Given the description of an element on the screen output the (x, y) to click on. 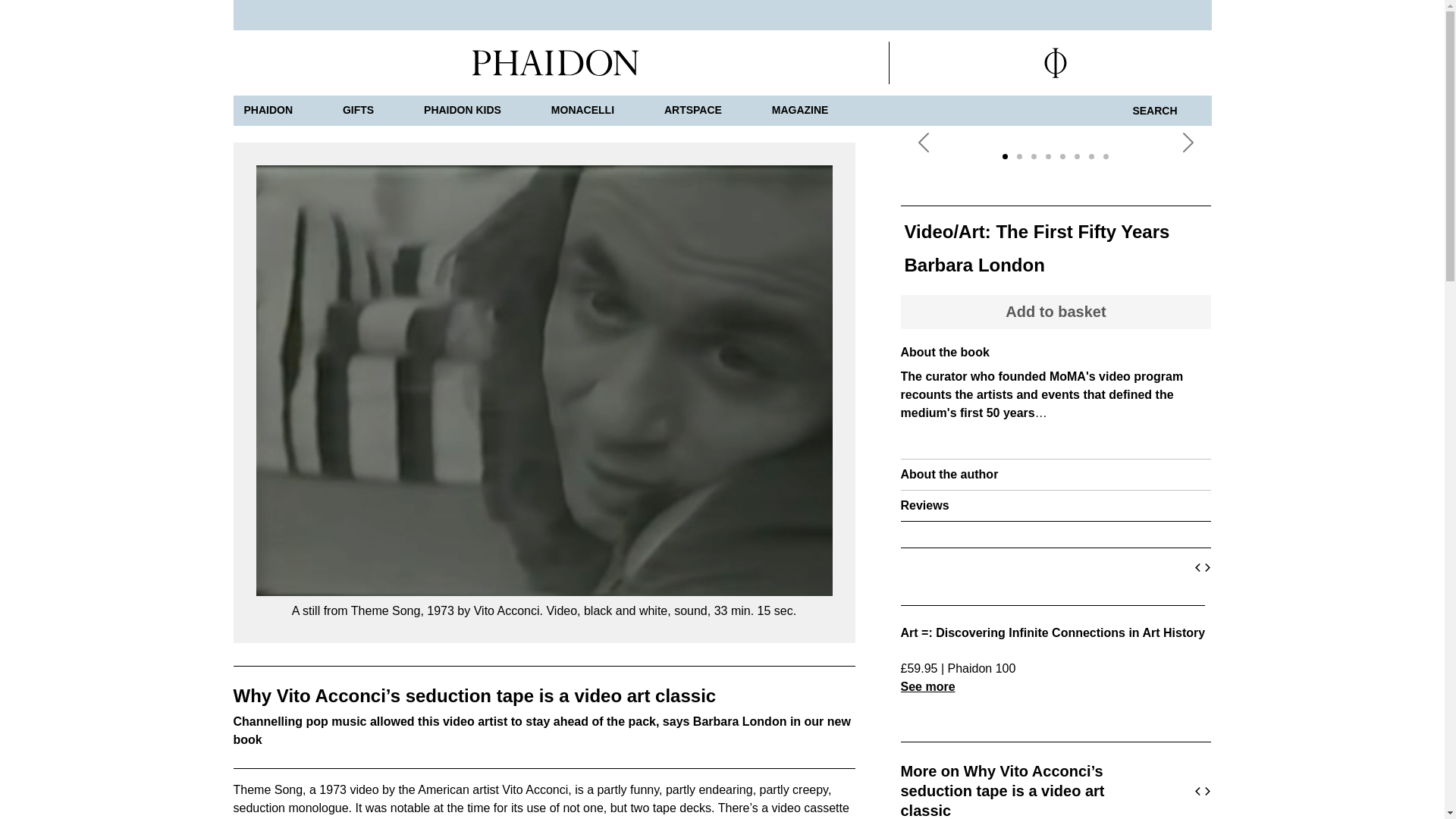
PHAIDON (268, 110)
GIFTS (358, 110)
MONACELLI (582, 110)
PHAIDON KIDS (462, 110)
